Given the description of an element on the screen output the (x, y) to click on. 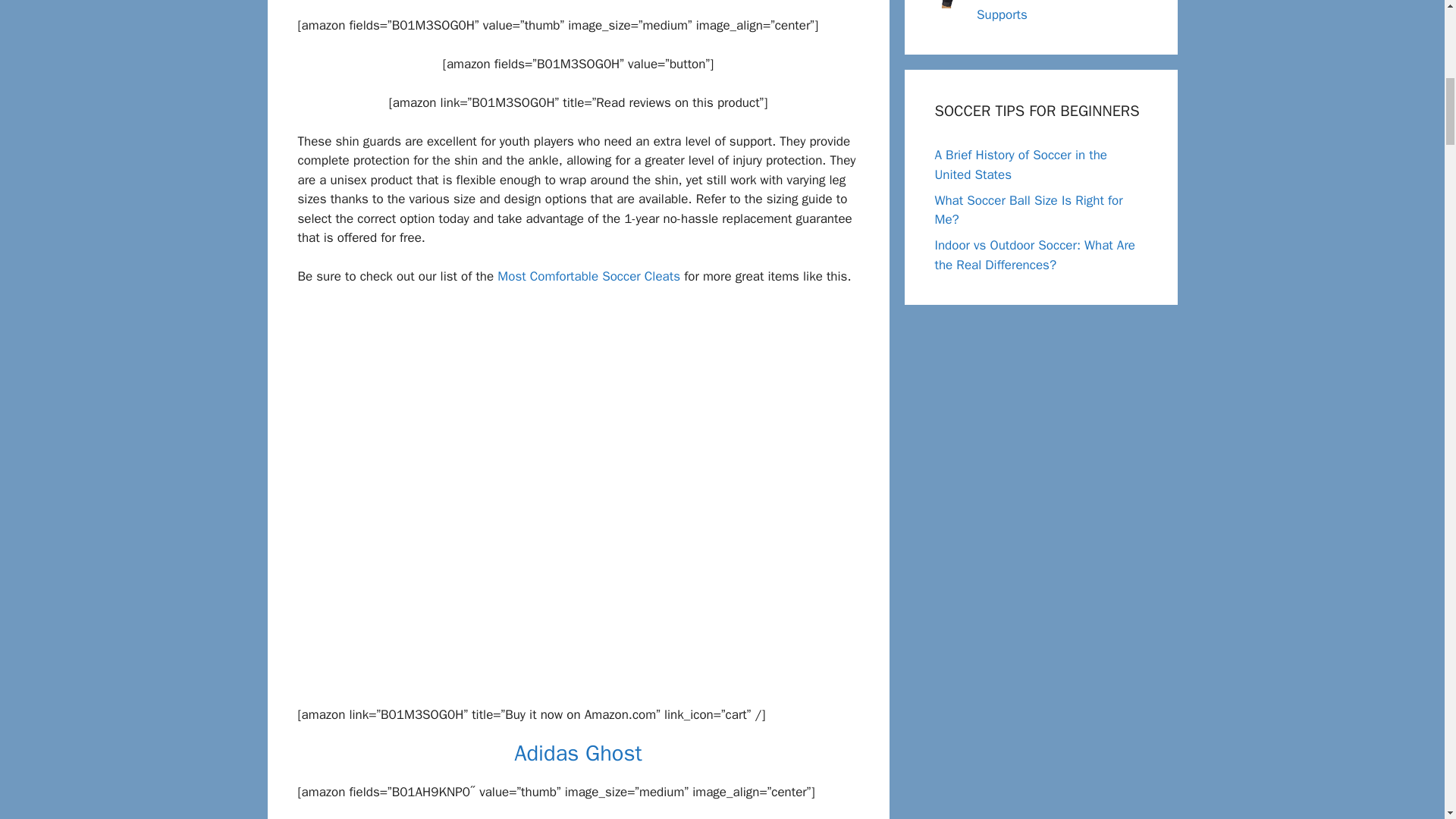
Most Comfortable Soccer Cleats (588, 276)
Adidas Ghost (577, 753)
